Given the description of an element on the screen output the (x, y) to click on. 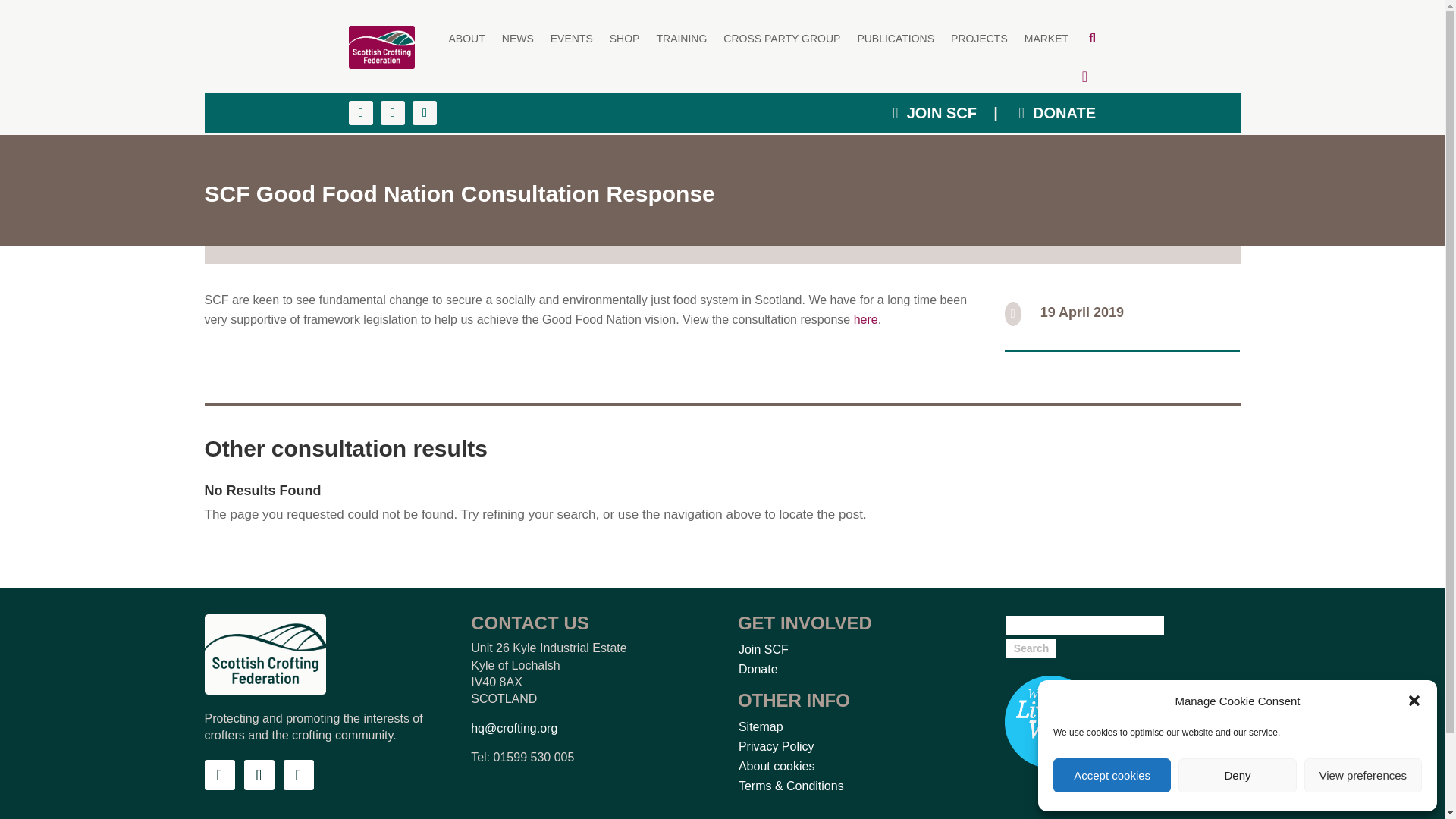
Follow on Instagram (298, 775)
Accept cookies (1111, 775)
Search (1031, 648)
Follow on Facebook (360, 112)
PROJECTS (978, 38)
View preferences (1363, 775)
PUBLICATIONS (895, 38)
Deny (1236, 775)
SCF logo 150h white (265, 654)
Follow on Twitter (259, 775)
CROSS PARTY GROUP (781, 38)
Follow on Facebook (219, 775)
Follow on Twitter (392, 112)
Follow on Instagram (424, 112)
